Given the description of an element on the screen output the (x, y) to click on. 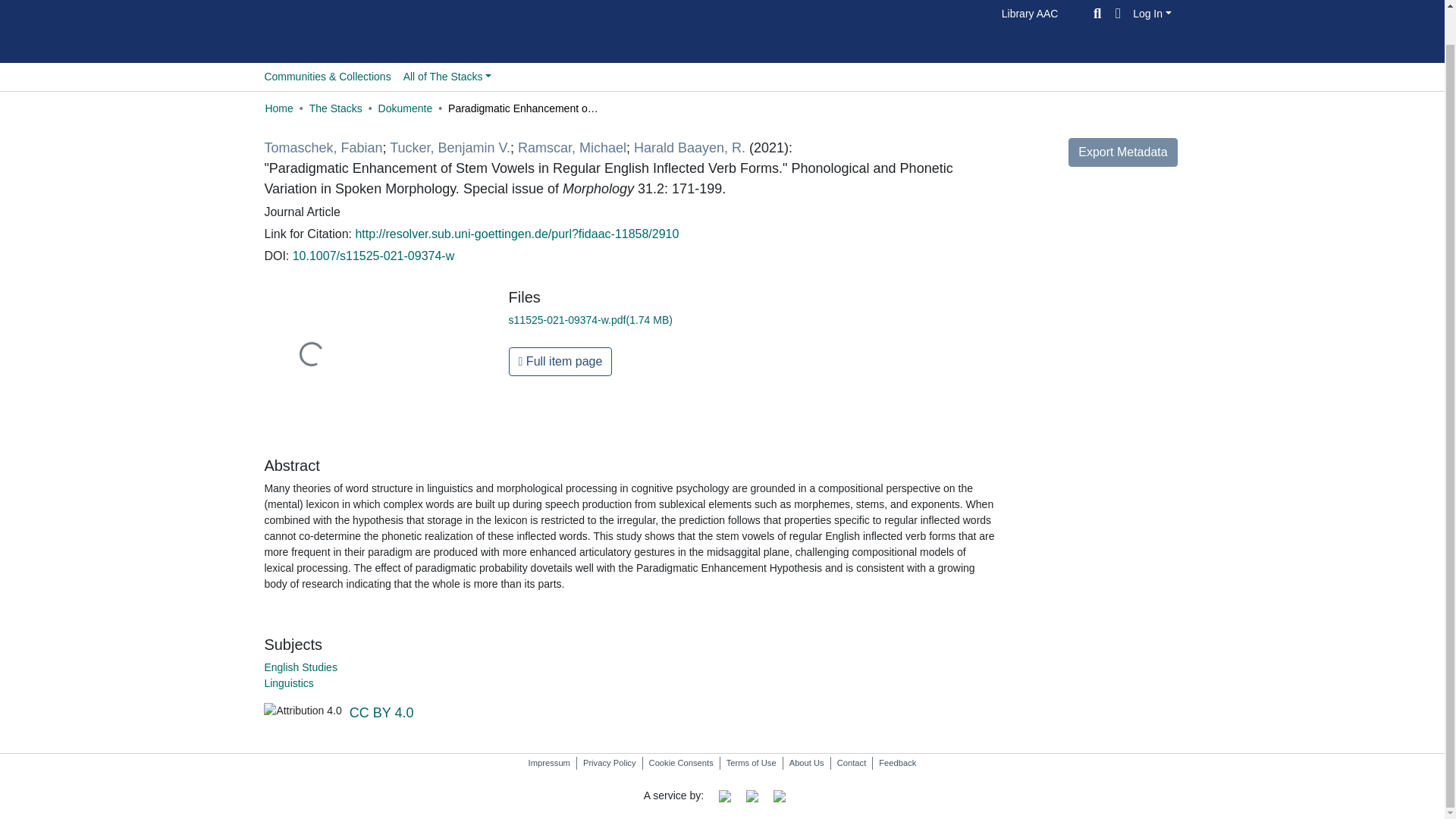
Tomaschek, Fabian (322, 147)
All of The Stacks (447, 76)
Log In (1151, 12)
Contact (851, 762)
Export Metadata (1122, 152)
Cookie Consents (681, 762)
Feedback (896, 762)
About Us (806, 762)
Dokumente (405, 108)
Home (278, 108)
Ramscar, Michael (572, 147)
Privacy Policy (609, 762)
Impressum (549, 762)
Linguistics (288, 683)
Library AAC (1029, 12)
